Given the description of an element on the screen output the (x, y) to click on. 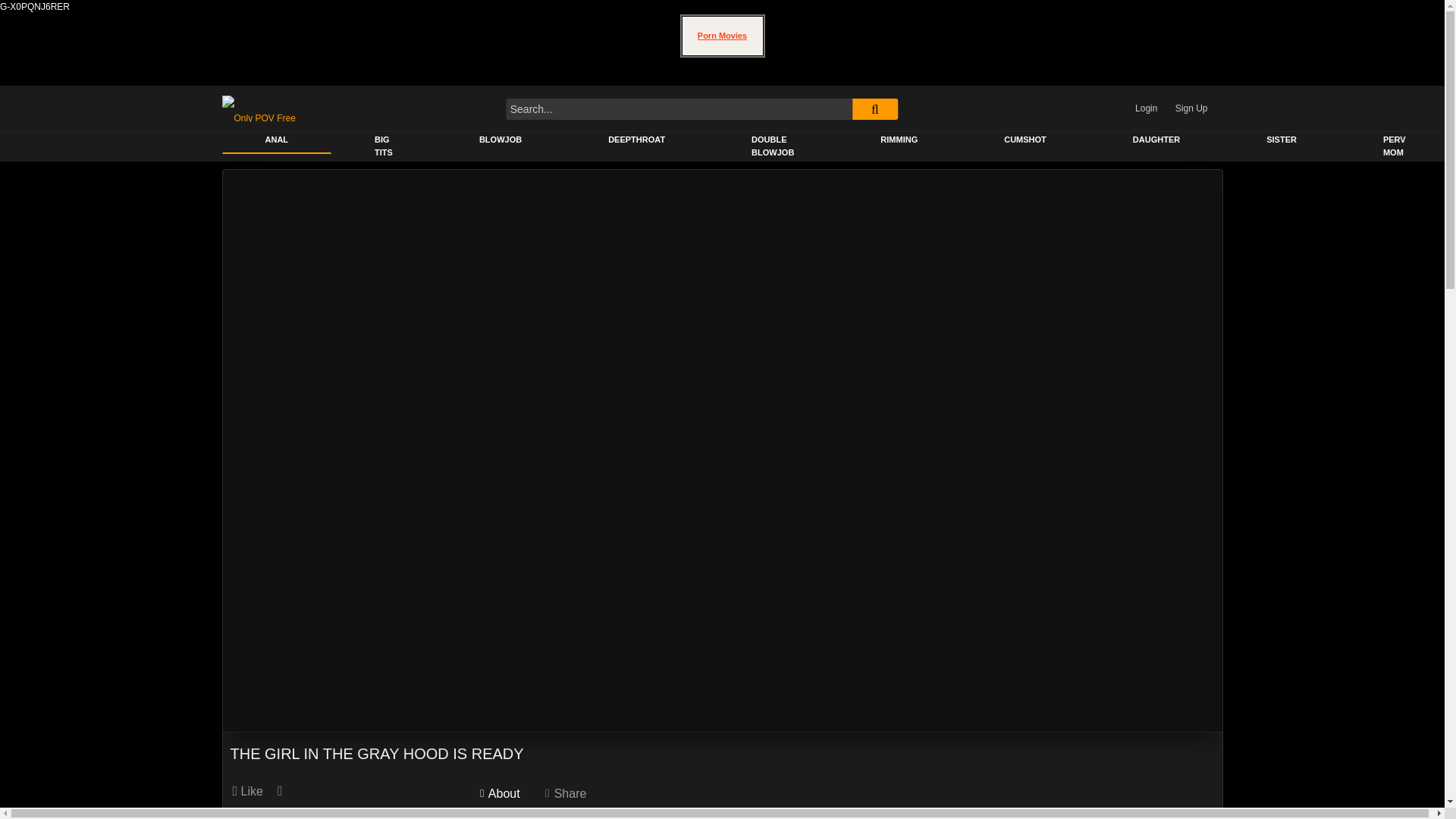
Login (1146, 108)
About (500, 797)
Porn Movies (722, 35)
Blowjob (499, 140)
Cumshot (1024, 140)
Deepthroat (635, 140)
ANAL (276, 140)
Anal (276, 140)
BIG TITS (383, 146)
BLOWJOB (499, 140)
SISTER (1281, 140)
Daughter (1156, 140)
Porn Movies (722, 35)
Rimming (898, 140)
RIMMING (898, 140)
